Given the description of an element on the screen output the (x, y) to click on. 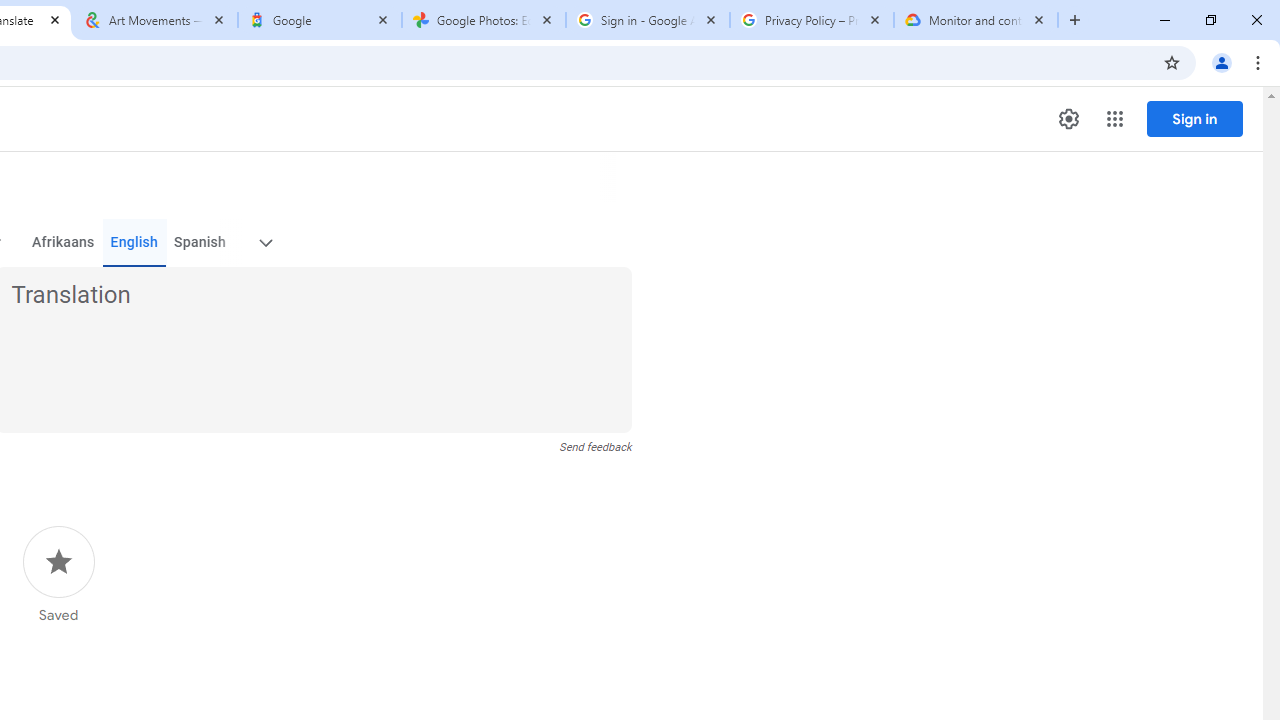
Saved (57, 575)
Sign in - Google Accounts (647, 20)
Google (319, 20)
Spanish (199, 242)
Send feedback (595, 447)
English (134, 242)
